Given the description of an element on the screen output the (x, y) to click on. 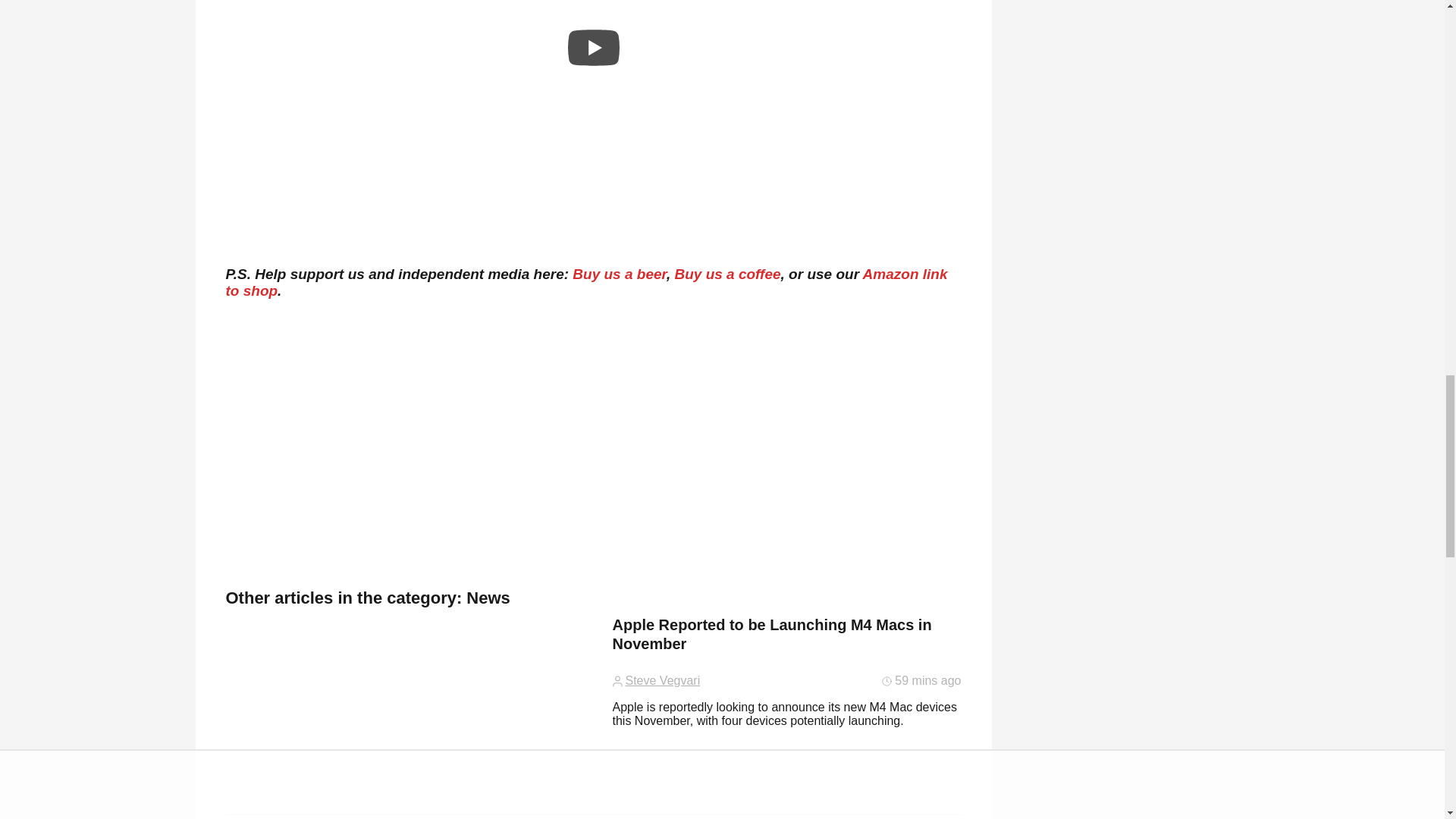
Buy us a beer (619, 273)
Amazon link to shop (586, 282)
Apple Reported to be Launching M4 Macs in November (786, 637)
Steve Vegvari (662, 680)
Buy us a coffee (727, 273)
